Given the description of an element on the screen output the (x, y) to click on. 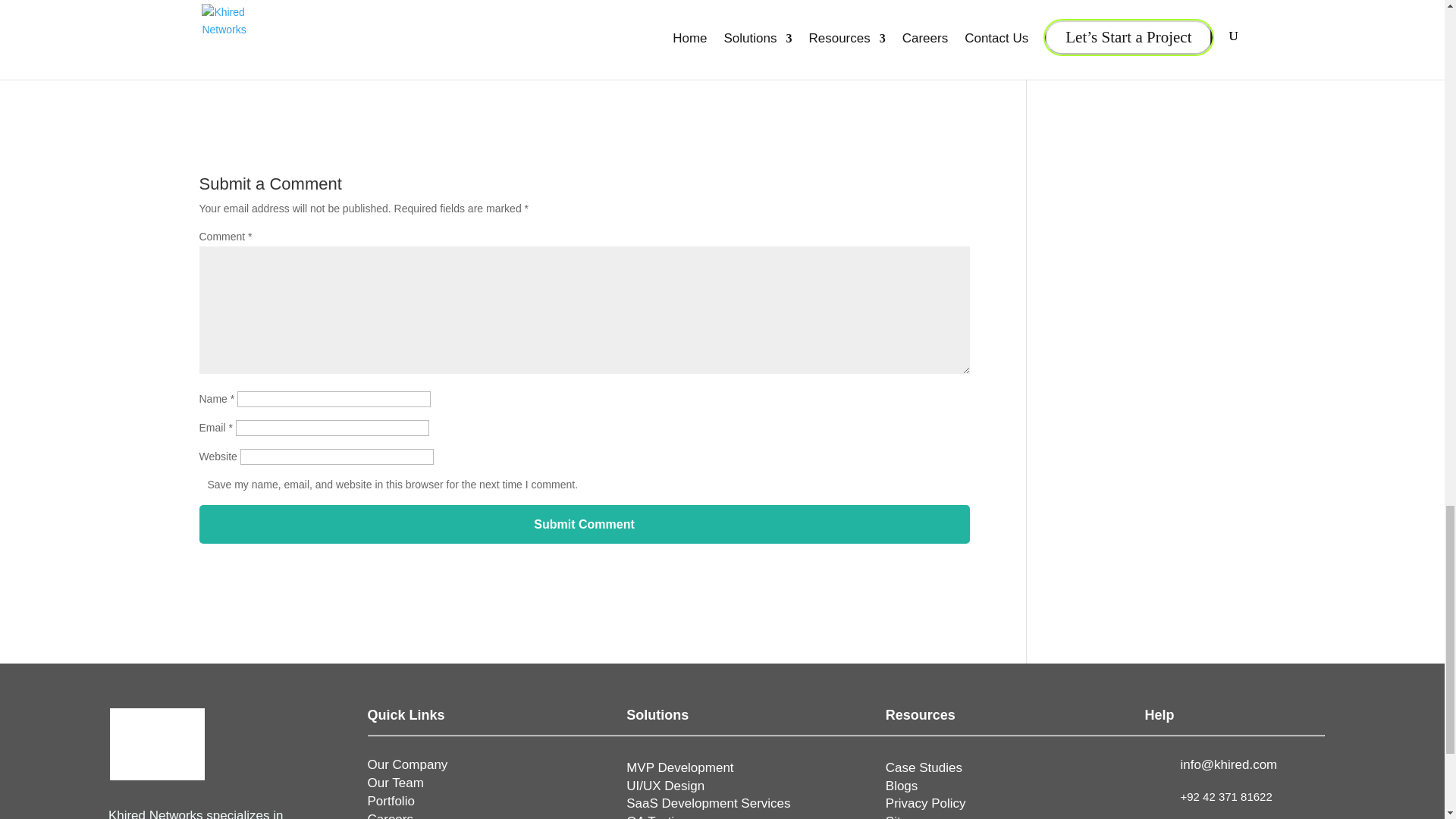
SaaS Development Services (708, 803)
Portfolio (391, 800)
Submit Comment (583, 524)
QA Testing (657, 816)
Our Company (408, 764)
Submit Comment (583, 524)
Our Team (395, 782)
MVP Development (679, 767)
Khired-white (157, 744)
Careers (390, 815)
